Given the description of an element on the screen output the (x, y) to click on. 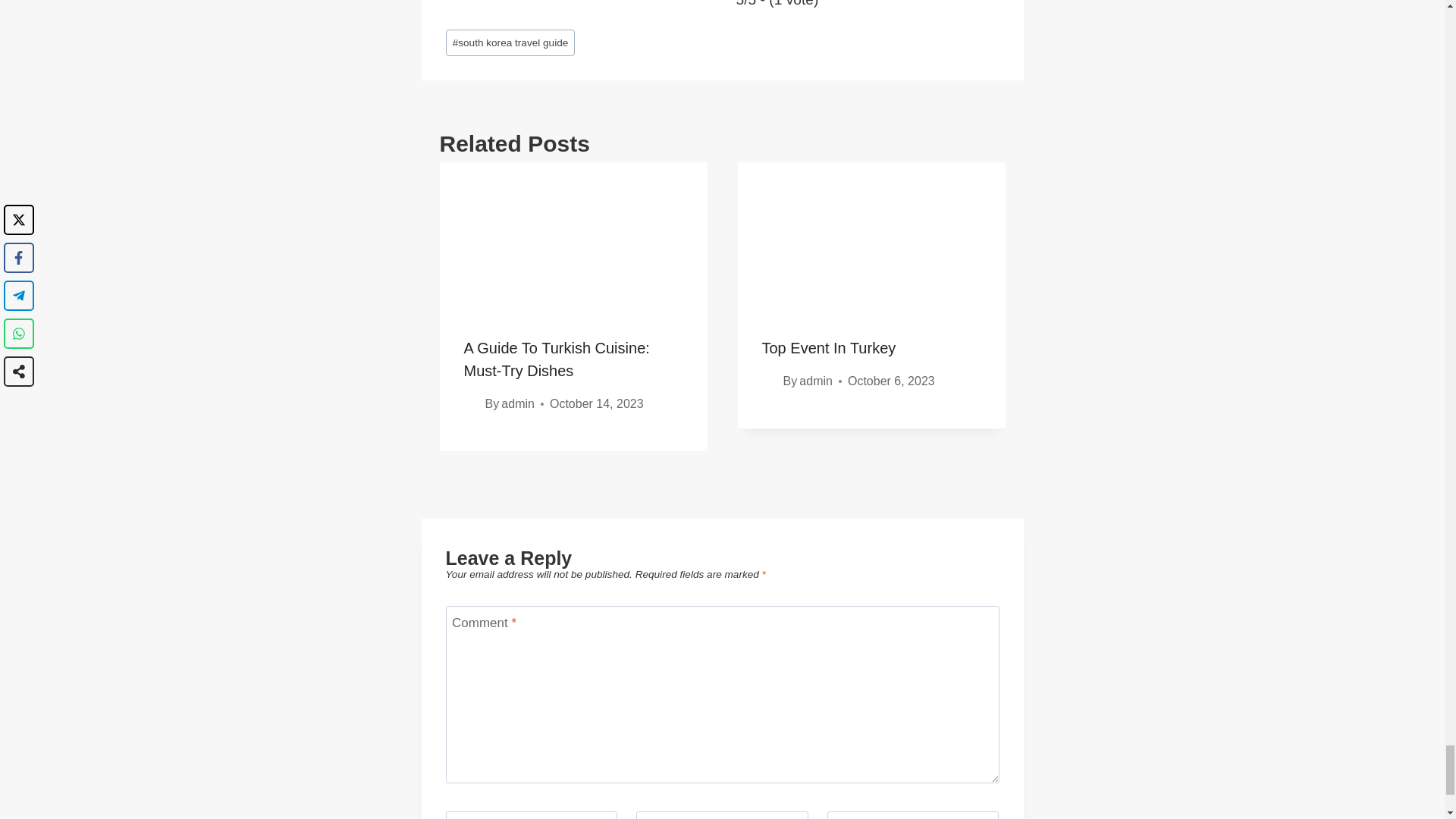
admin (815, 380)
south korea travel guide (510, 42)
admin (517, 403)
A Guide To Turkish Cuisine: Must-Try Dishes (556, 359)
Top Event In Turkey (828, 347)
